Given the description of an element on the screen output the (x, y) to click on. 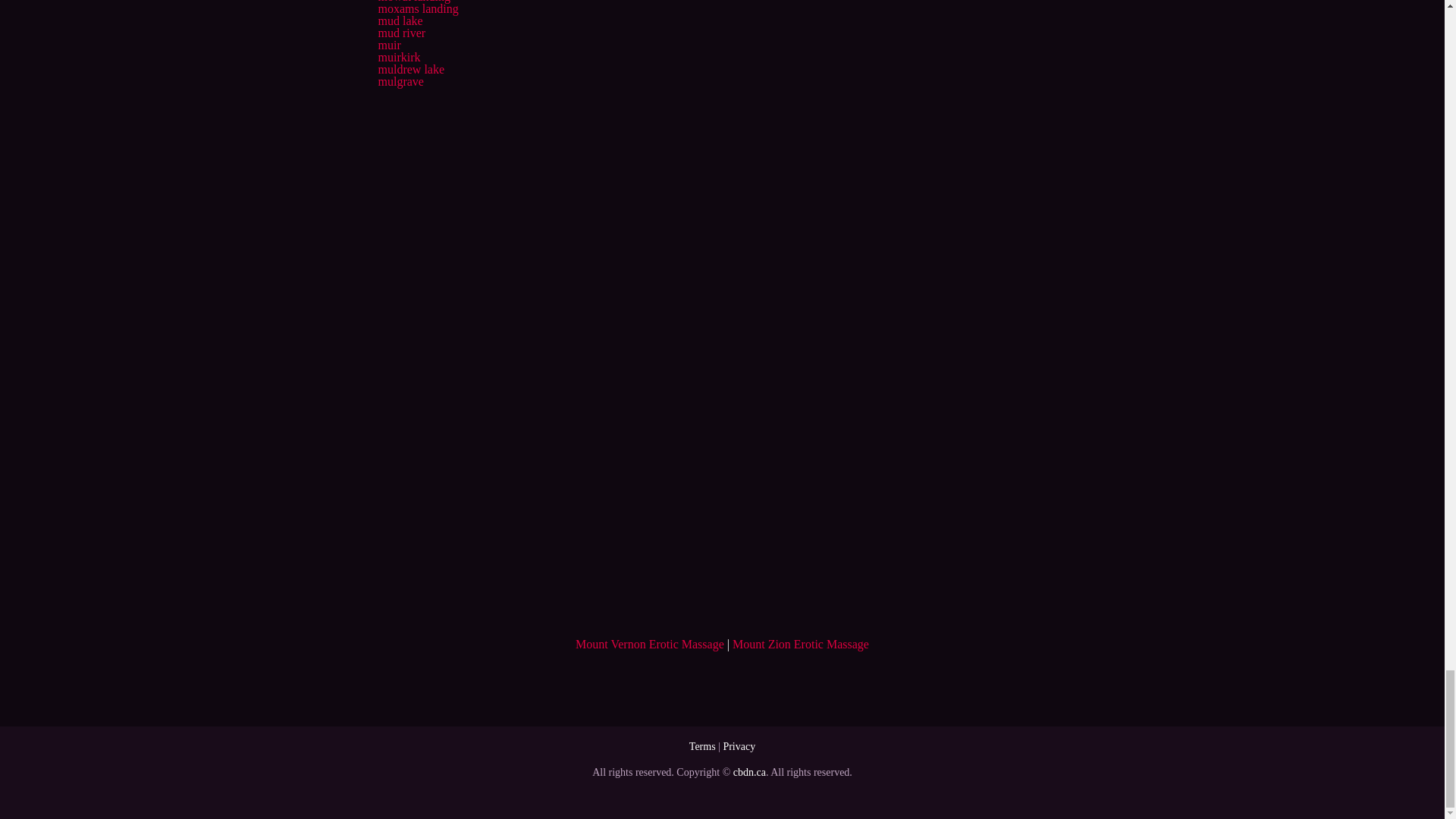
Mount Vernon Erotic Massage (649, 644)
cbdn.ca (749, 772)
muldrew lake (410, 69)
mud lake (399, 20)
moxams landing (417, 8)
Terms (702, 746)
mulgrave (400, 81)
Privacy (738, 746)
Mount Zion Erotic Massage (800, 644)
mowat landing (413, 1)
